Given the description of an element on the screen output the (x, y) to click on. 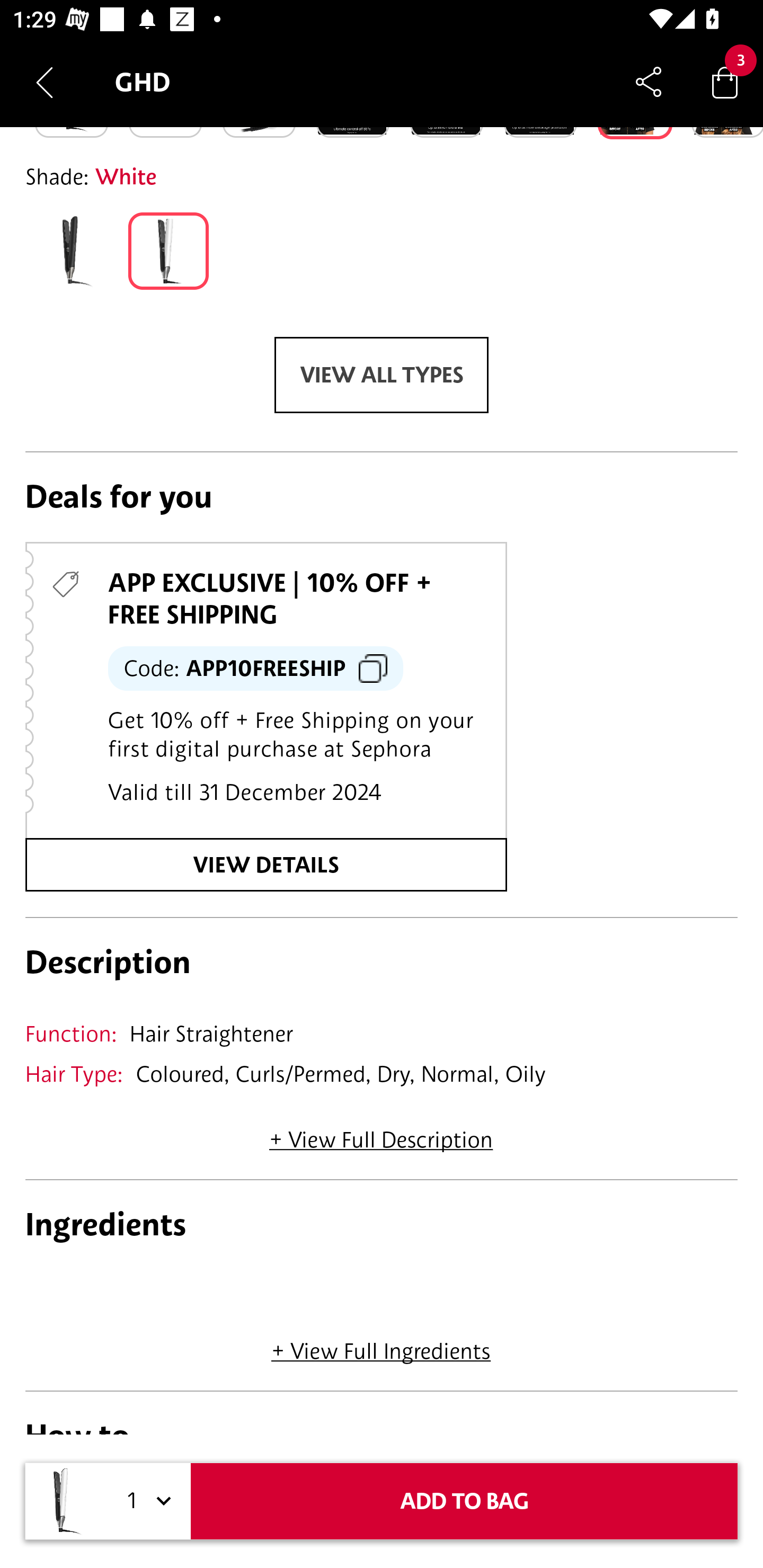
Navigate up (44, 82)
Share (648, 81)
Bag (724, 81)
VIEW ALL TYPES (381, 375)
VIEW DETAILS (266, 864)
+ View Full Description (380, 1133)
1 (145, 1500)
ADD TO BAG (463, 1500)
